Given the description of an element on the screen output the (x, y) to click on. 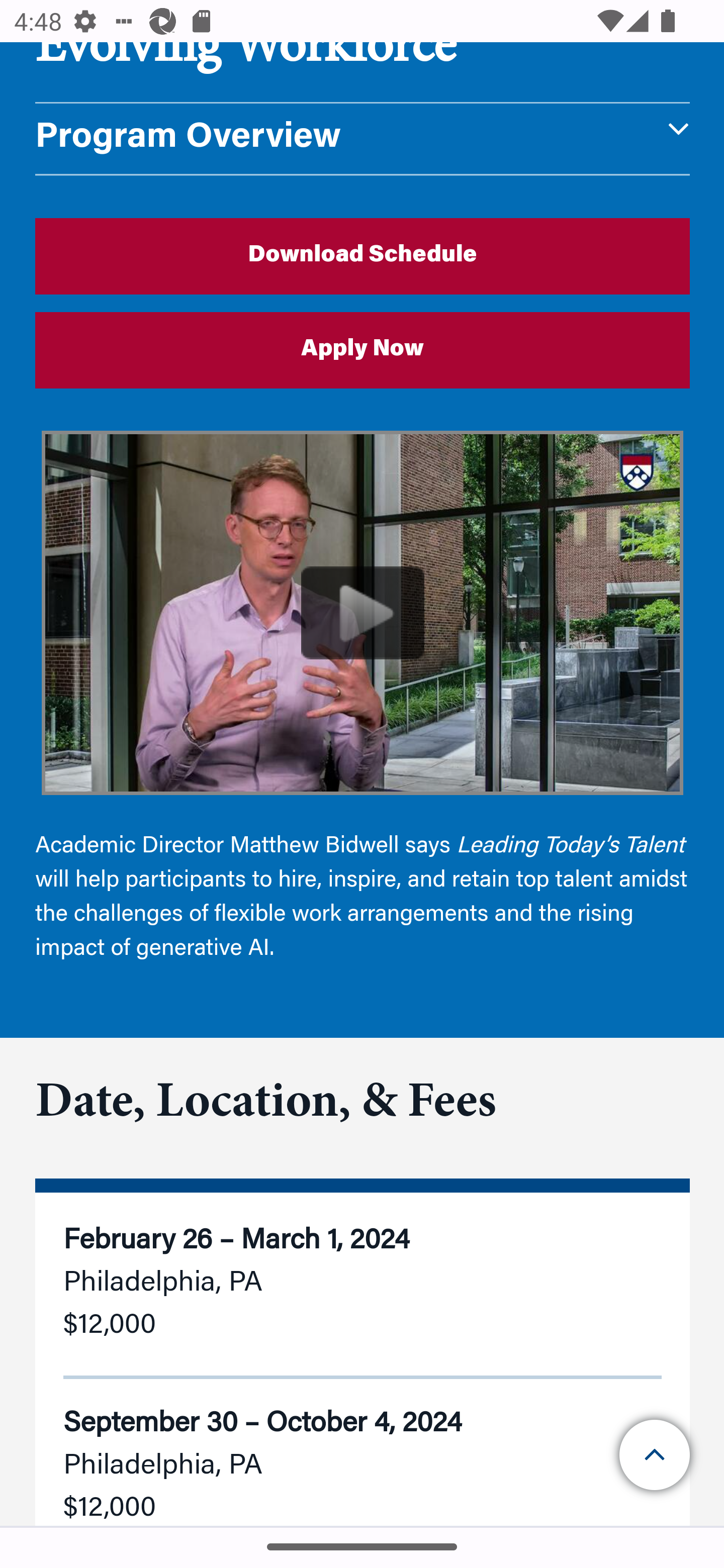
Program Overview  (362, 139)
Download Schedule (363, 255)
Apply Now (363, 349)
Play video content LEAD Overview - Matthew Bidwell (363, 613)
 (655, 1455)
